Given the description of an element on the screen output the (x, y) to click on. 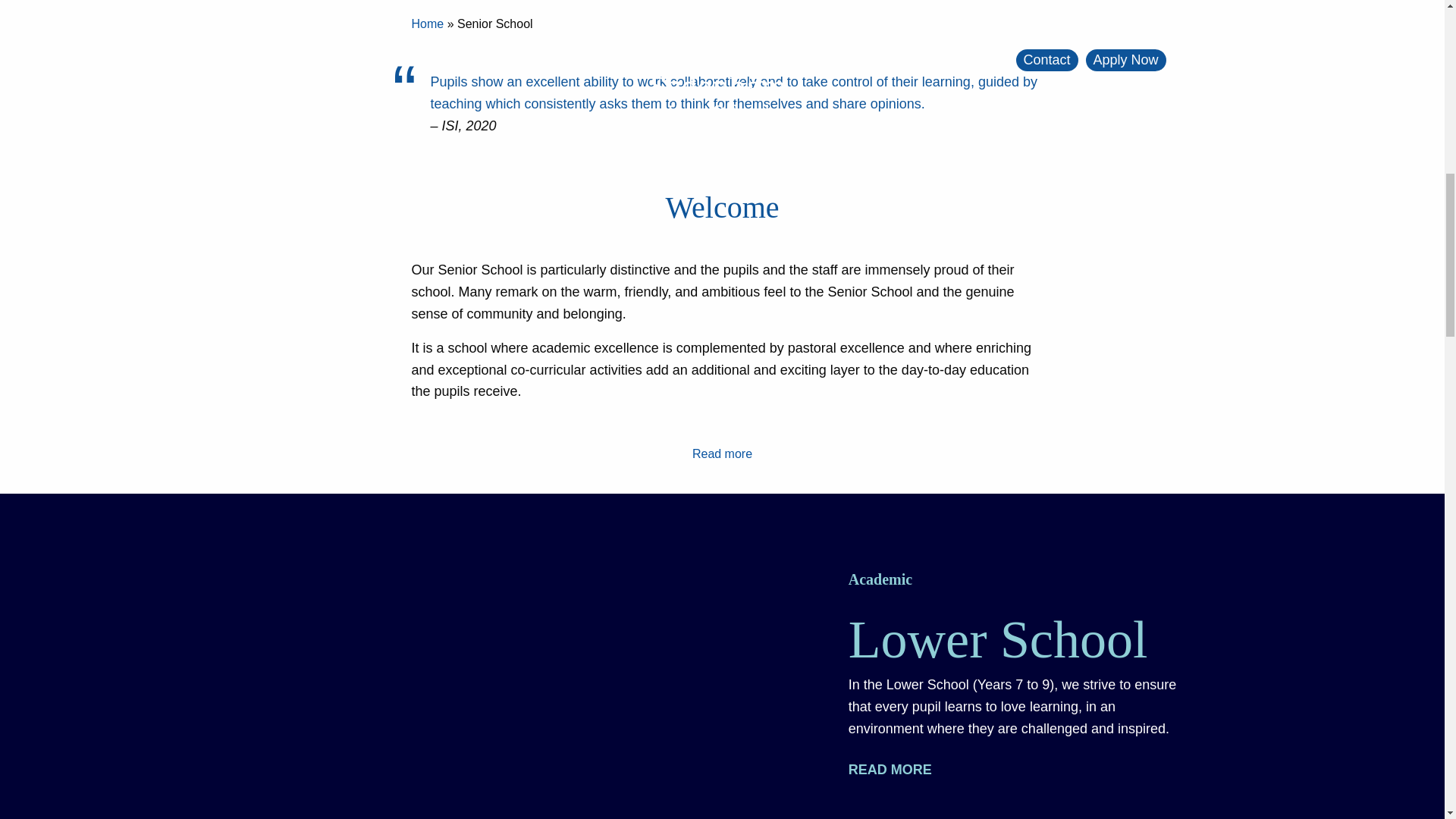
Read more (895, 769)
